Given the description of an element on the screen output the (x, y) to click on. 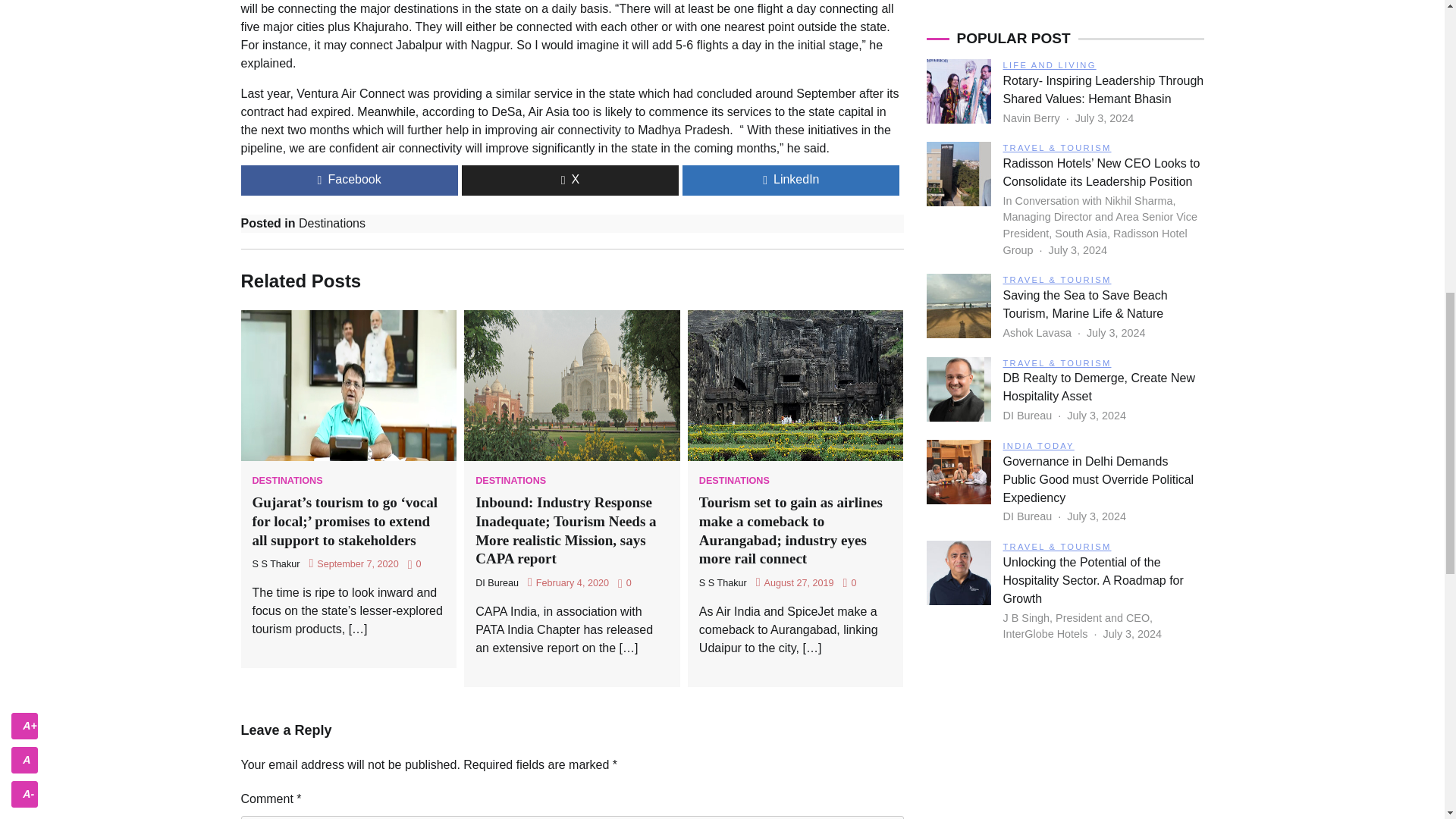
DI Bureau (497, 583)
LinkedIn (790, 180)
S S Thakur (722, 583)
S S Thakur (275, 563)
DESTINATIONS (734, 480)
Destinations (331, 223)
DESTINATIONS (511, 480)
Facebook (349, 180)
X (569, 180)
DESTINATIONS (286, 480)
